Given the description of an element on the screen output the (x, y) to click on. 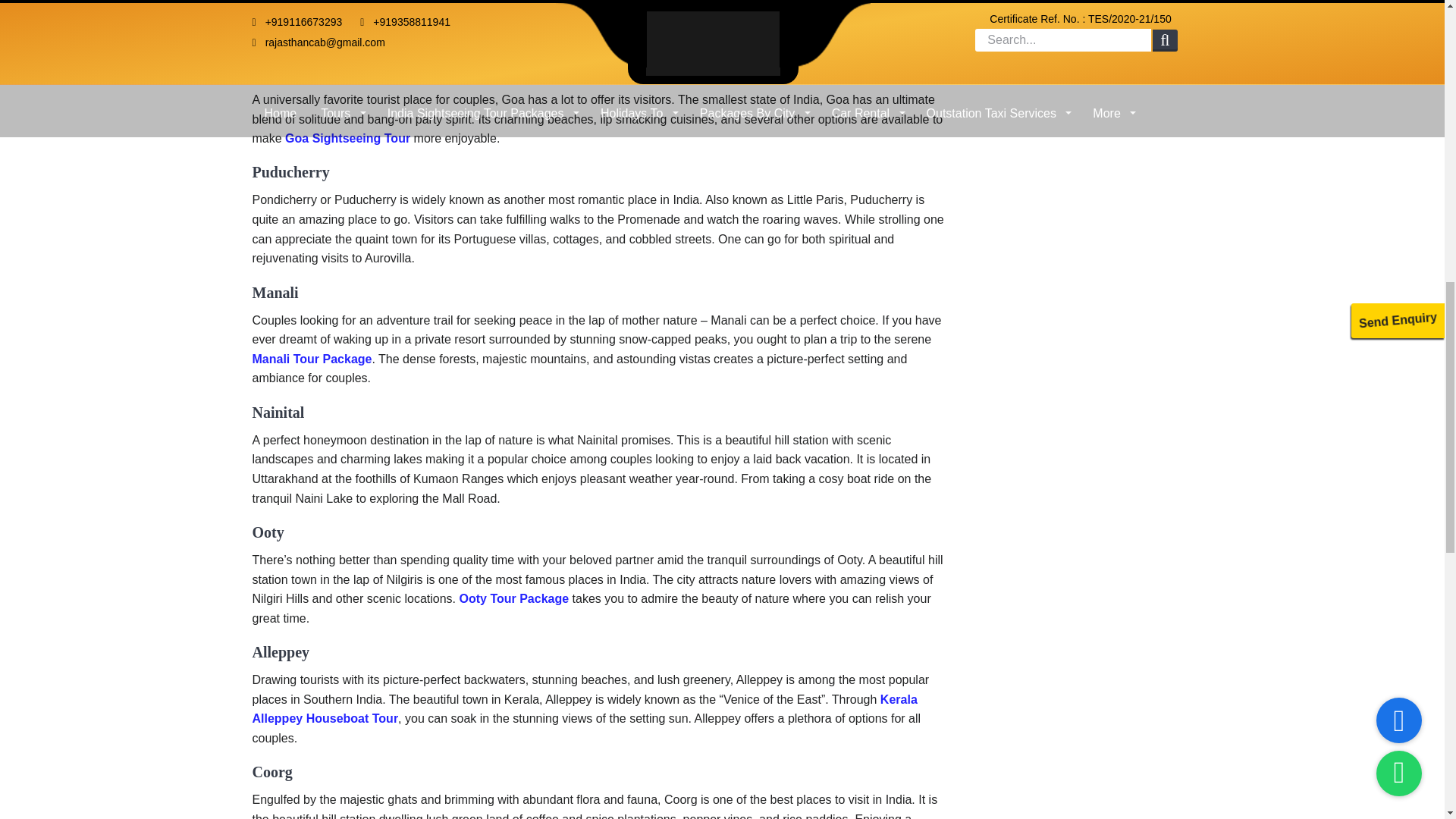
Submit (1086, 11)
